Given the description of an element on the screen output the (x, y) to click on. 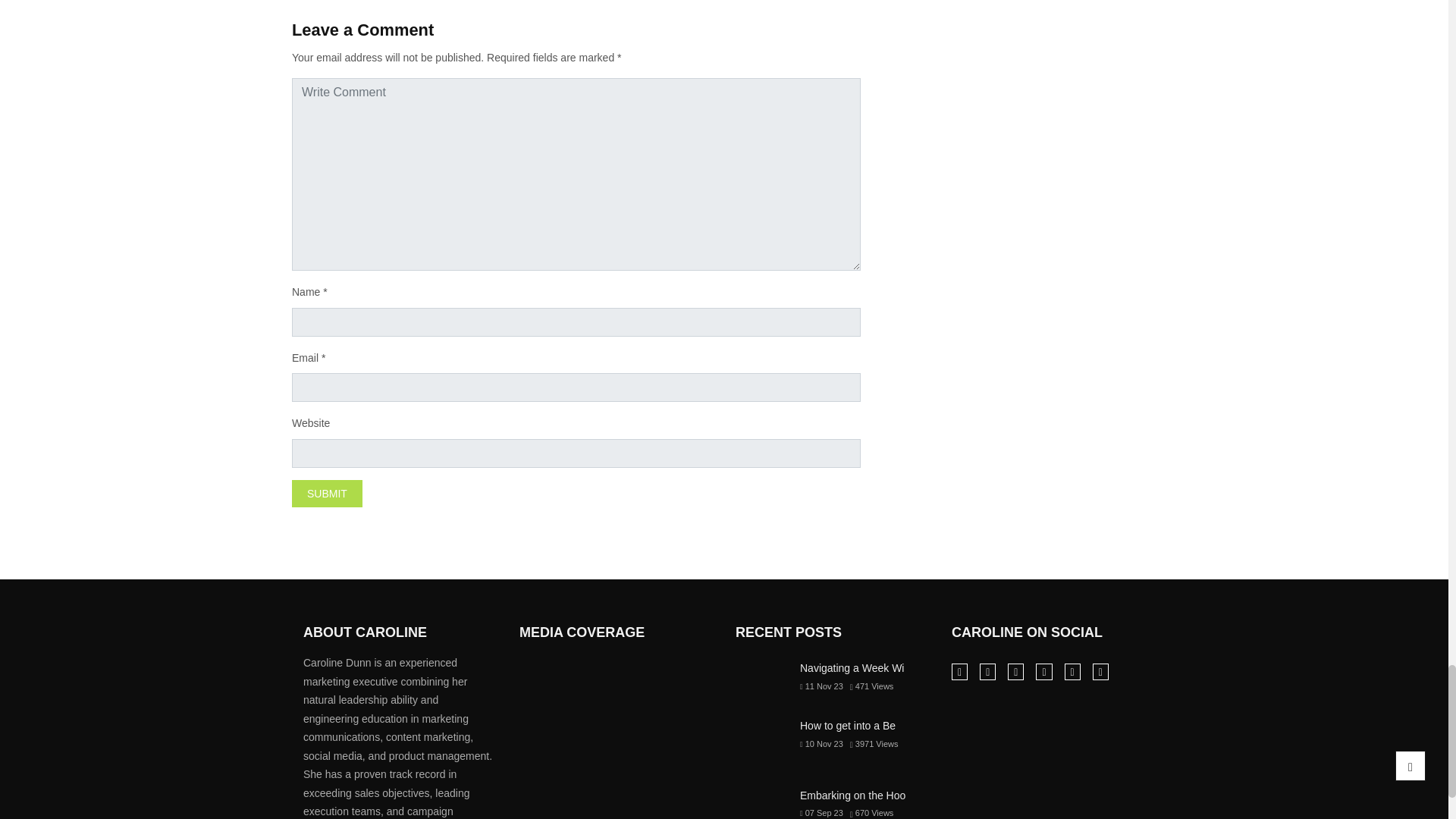
Where Their Confidence Comes From (615, 677)
3 Time Featured Guest on the Pi Cast Show (680, 677)
Submit (327, 493)
Shoutout Atlanta Feature (550, 677)
